Given the description of an element on the screen output the (x, y) to click on. 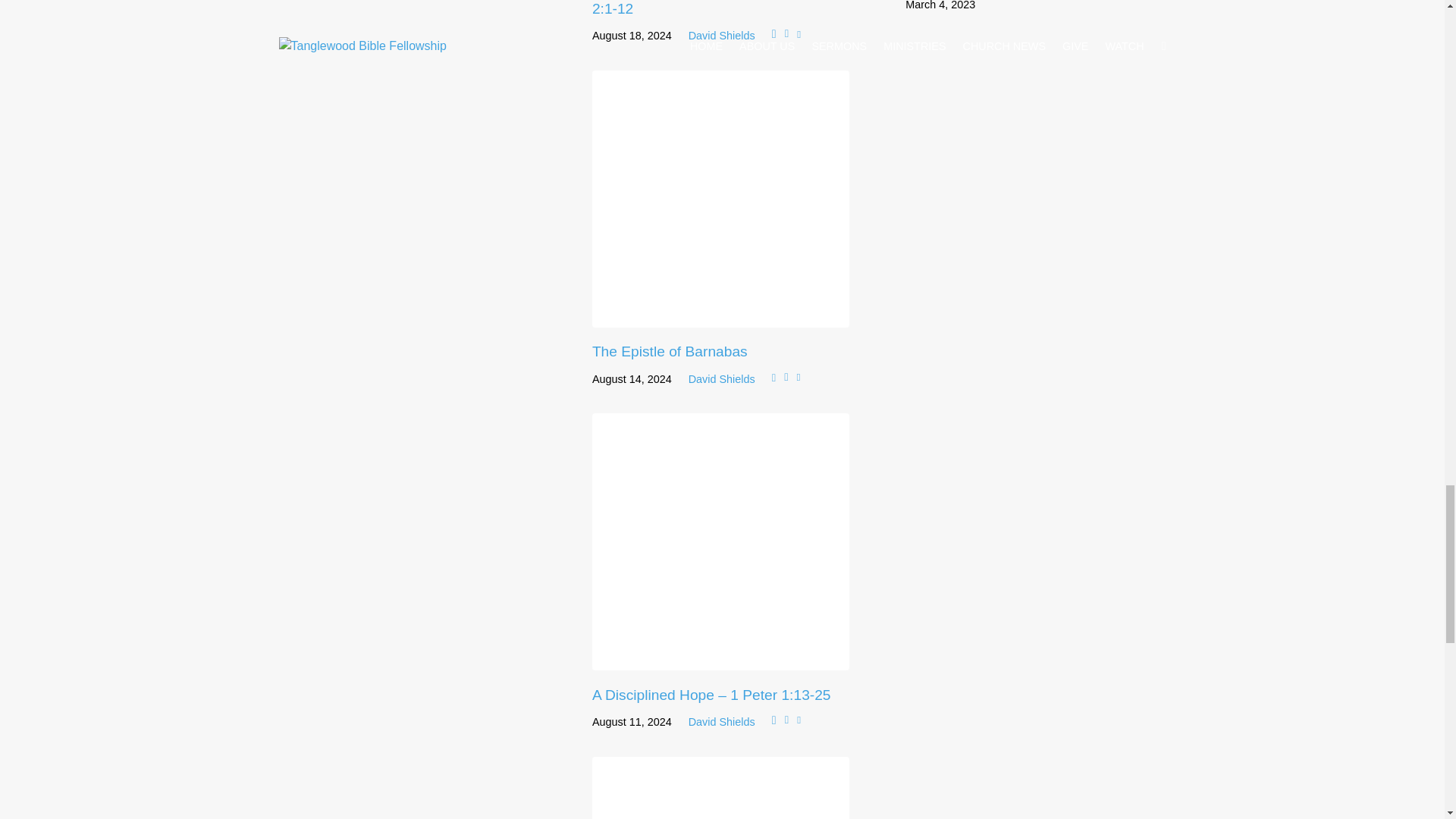
The Epistle of Barnabas (670, 351)
The Epistle of Barnabas (720, 315)
David Shields (721, 35)
